Given the description of an element on the screen output the (x, y) to click on. 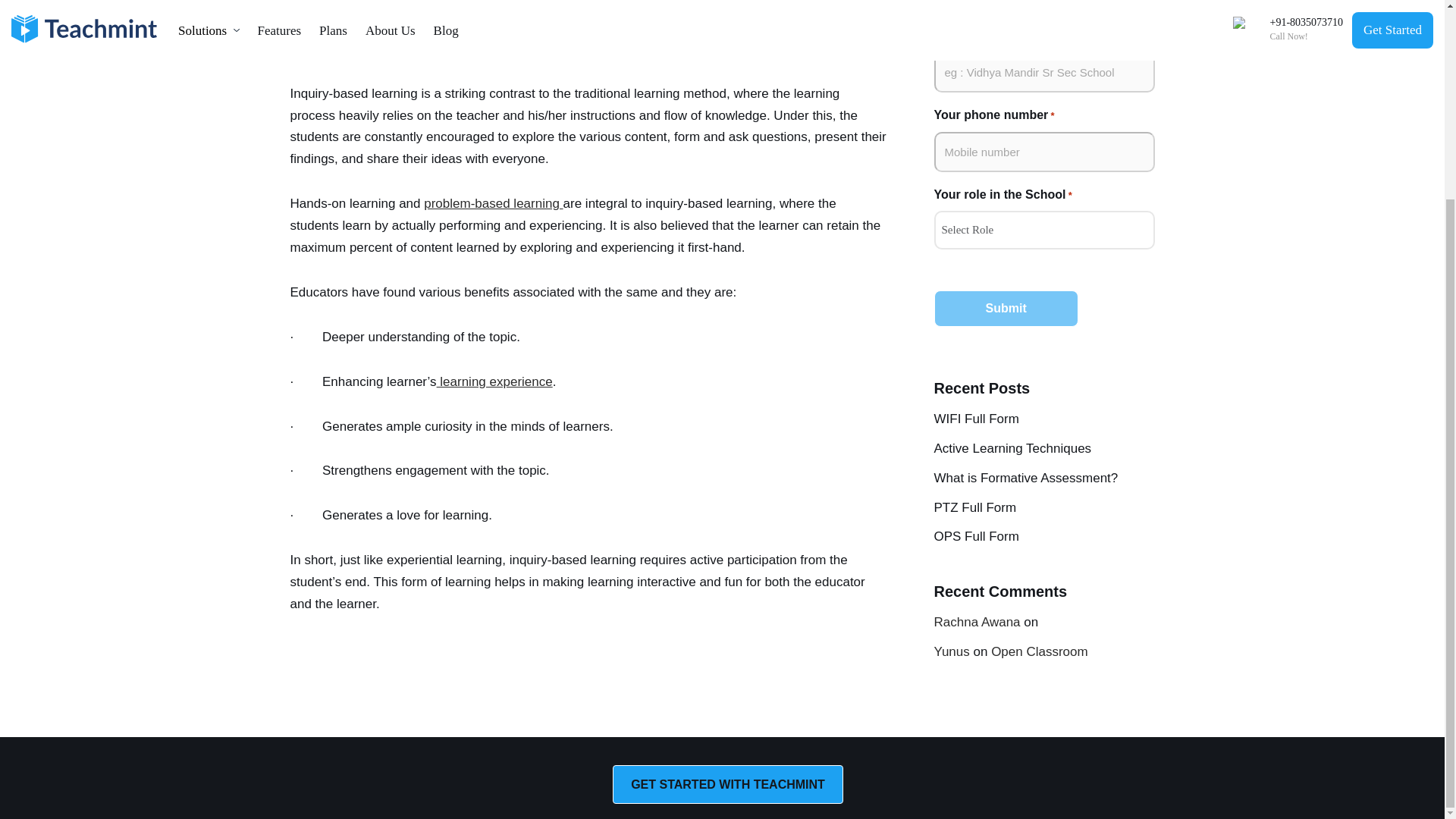
Submit (1006, 308)
